Given the description of an element on the screen output the (x, y) to click on. 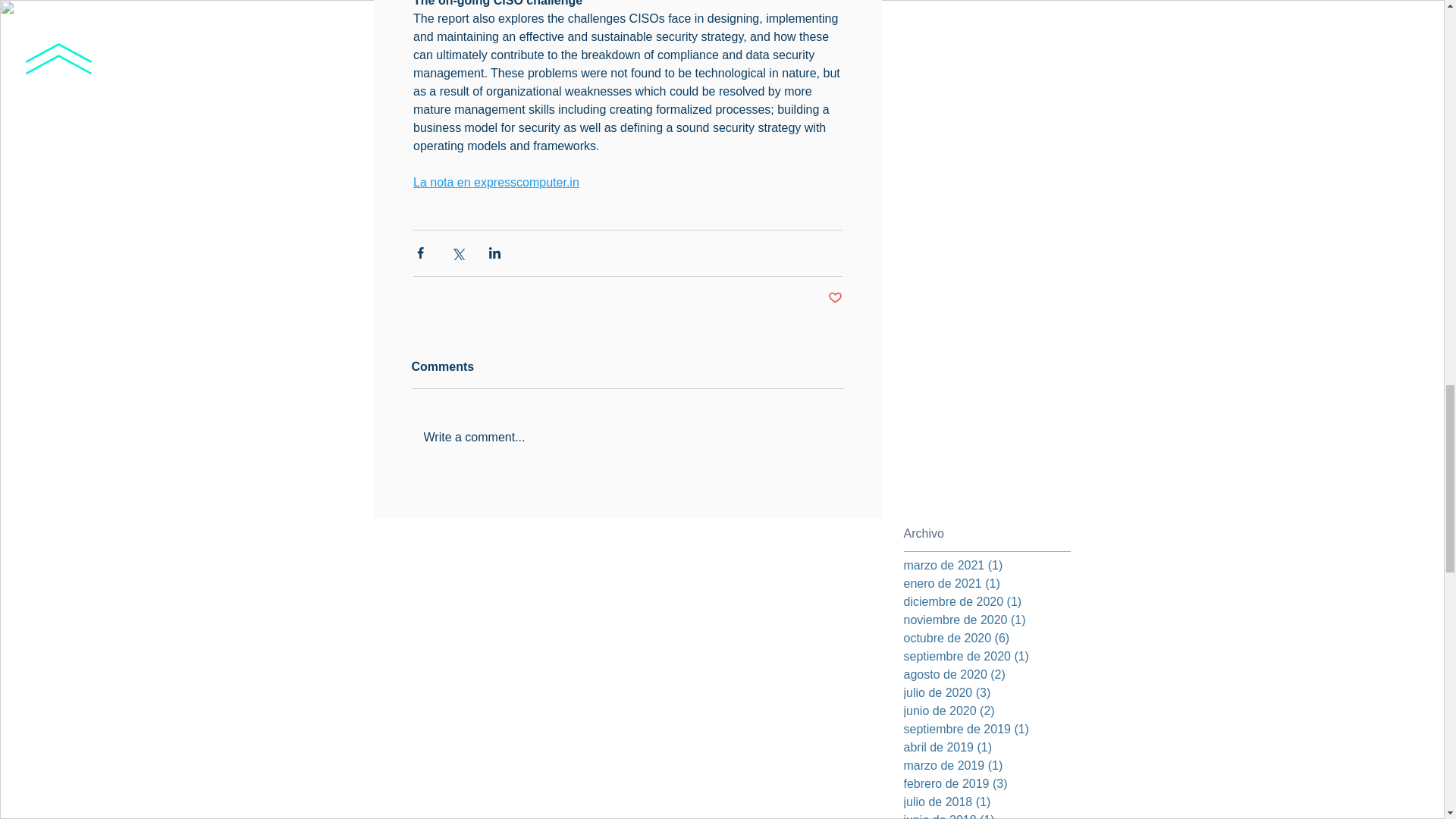
Write a comment... (626, 436)
La nota en expresscomputer.in (495, 182)
Entrada no marcada como Me Gusta (835, 297)
